Given the description of an element on the screen output the (x, y) to click on. 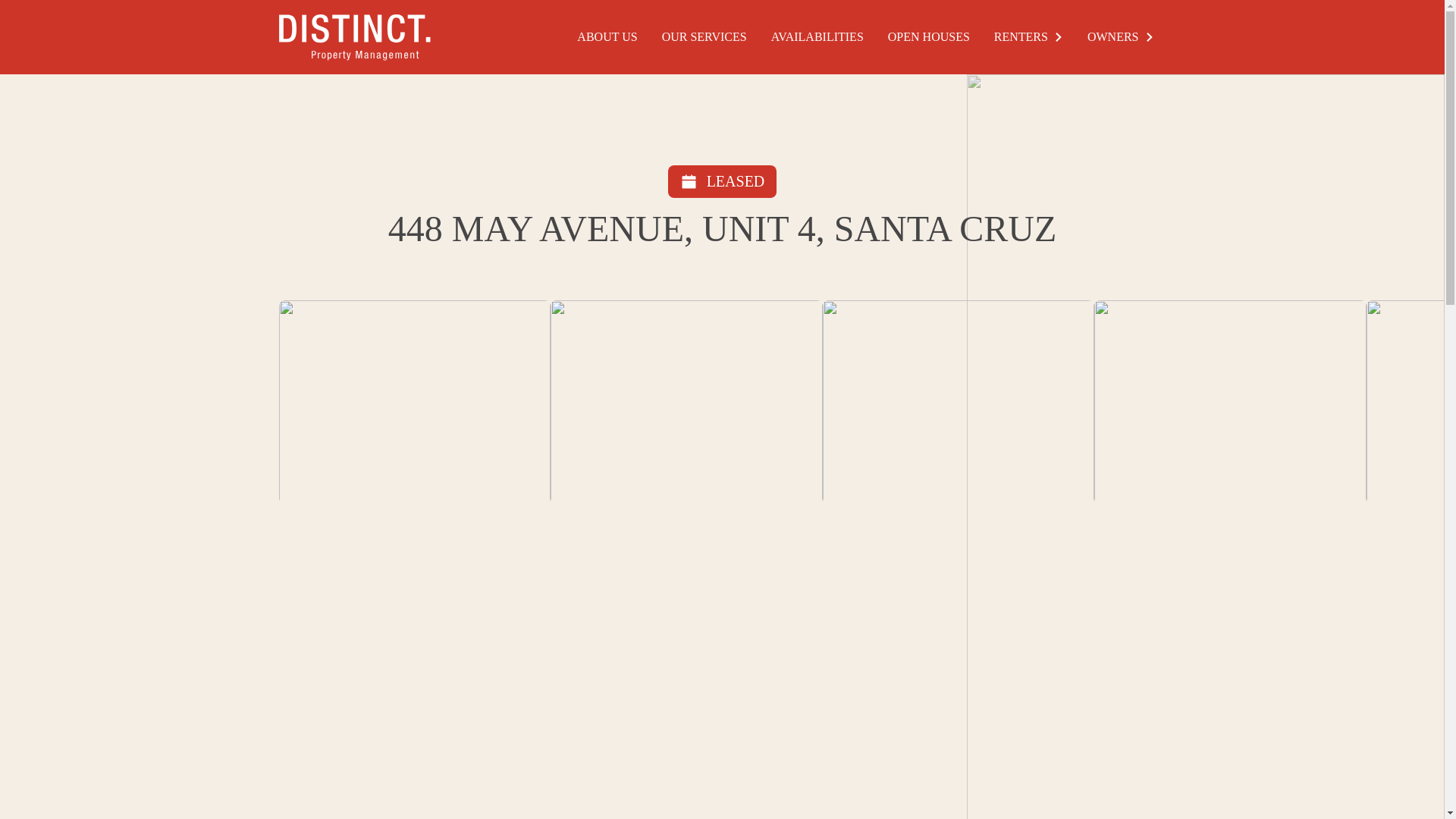
RENTERS (1028, 36)
OPEN HOUSES (928, 36)
OWNERS (1120, 36)
OUR SERVICES (703, 36)
AVAILABILITIES (817, 36)
ABOUT US (606, 36)
